Given the description of an element on the screen output the (x, y) to click on. 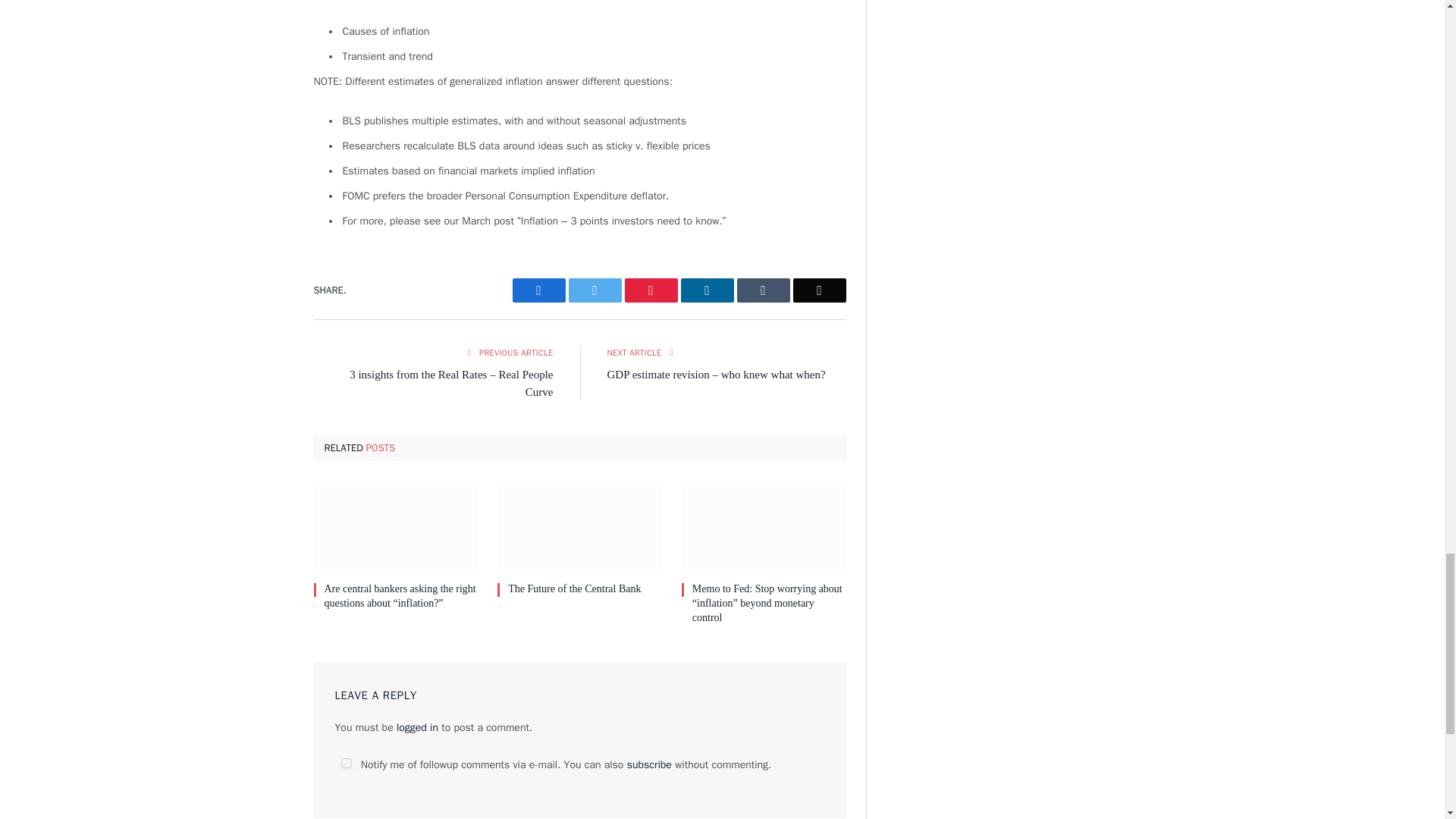
The Future of the Central Bank (579, 525)
Share on Pinterest (651, 290)
Share on Facebook (539, 290)
Share via Email (819, 290)
yes (346, 763)
Share on Twitter (595, 290)
Share on Tumblr (763, 290)
Share on LinkedIn (707, 290)
